Given the description of an element on the screen output the (x, y) to click on. 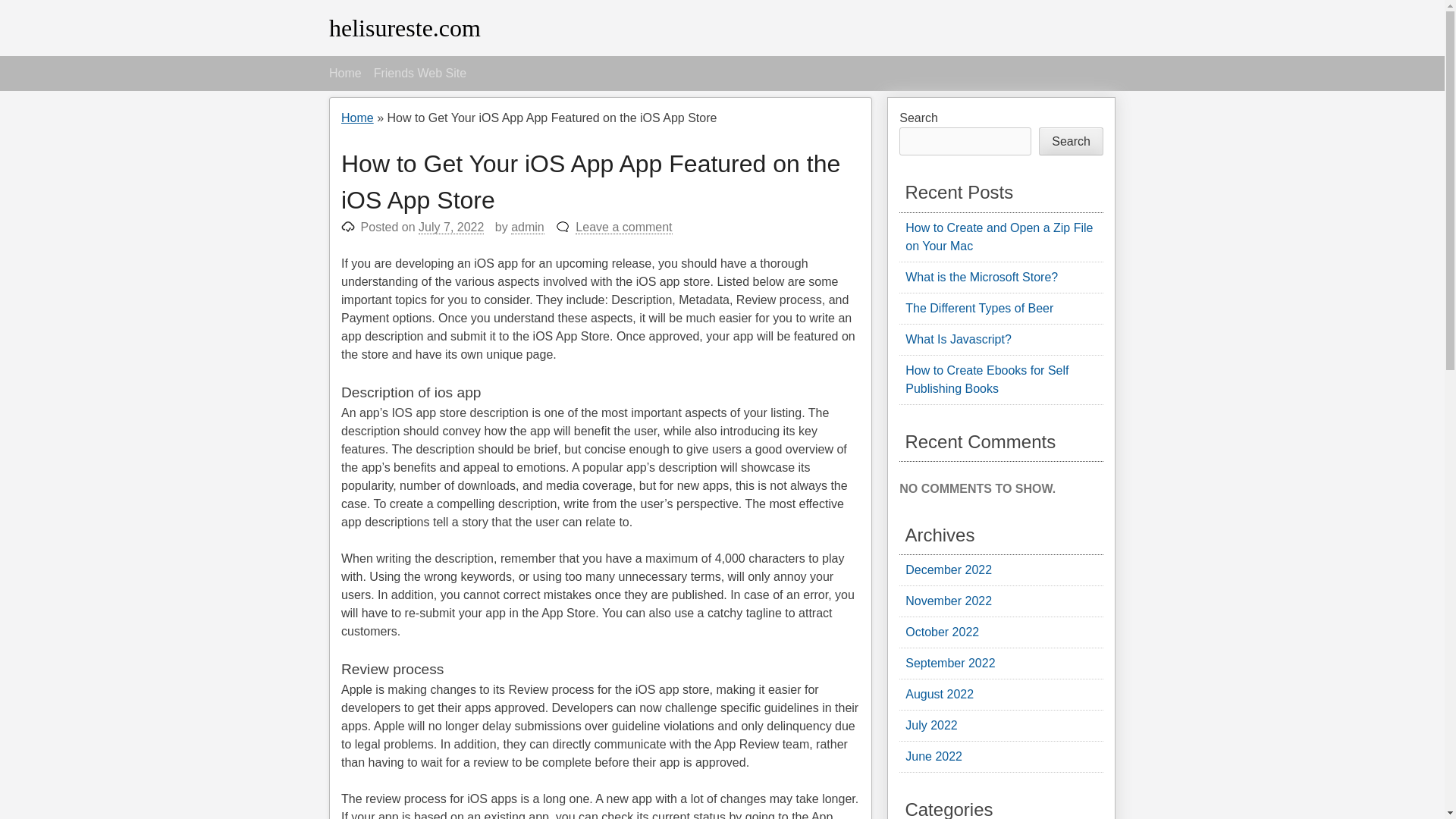
June 2022 (933, 756)
What Is Javascript? (958, 338)
How to Create and Open a Zip File on Your Mac (999, 236)
October 2022 (941, 631)
Home (345, 73)
helisureste.com (404, 27)
Search (1071, 141)
How to Create Ebooks for Self Publishing Books (986, 378)
August 2022 (939, 694)
admin (527, 227)
